Given the description of an element on the screen output the (x, y) to click on. 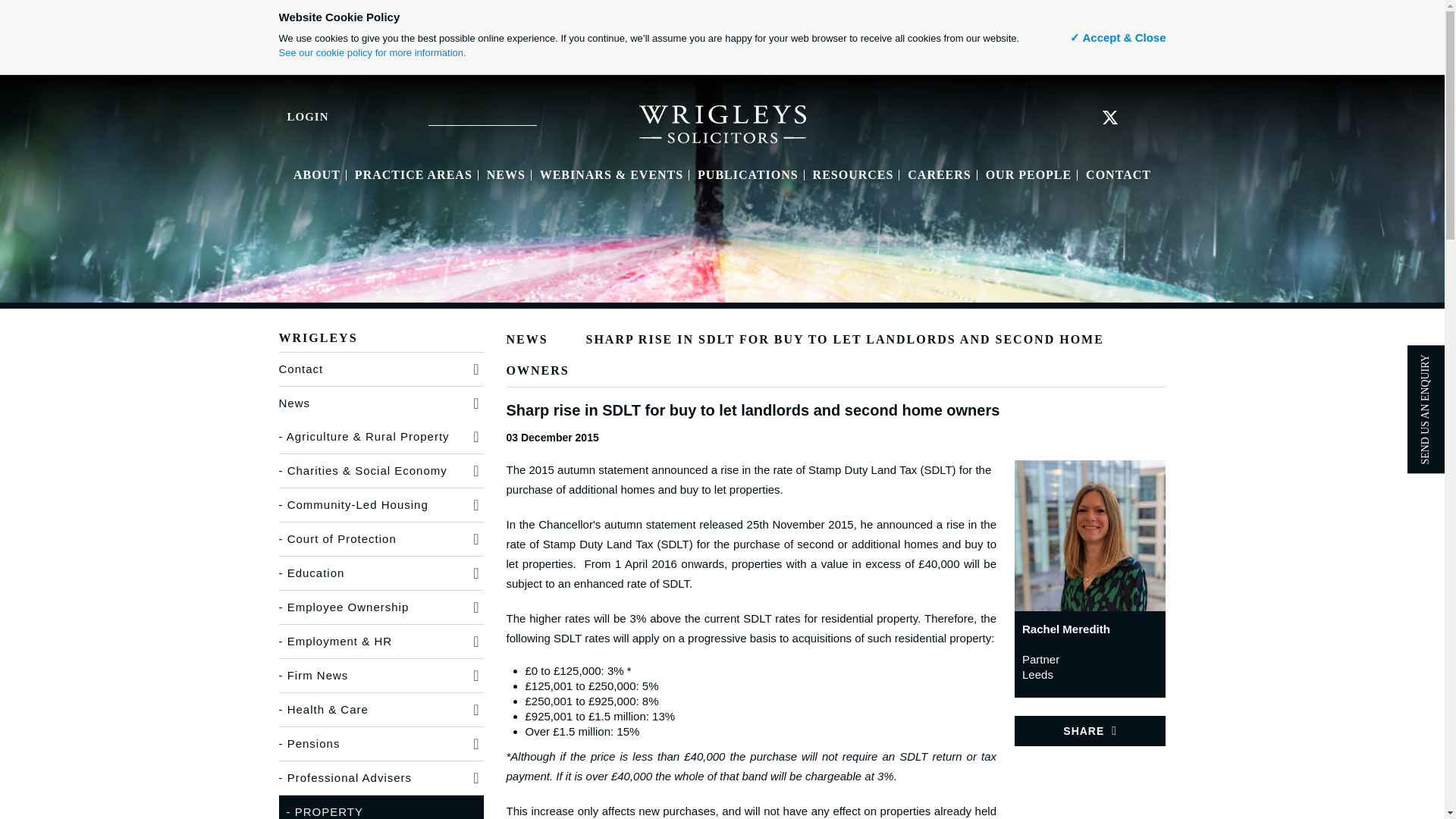
Wrigleys Solicitors (722, 123)
LOGIN (292, 115)
PRACTICE AREAS (413, 174)
See our cookie policy for more information. (372, 52)
ABOUT (317, 174)
Rachel Meredith (1090, 534)
